Given the description of an element on the screen output the (x, y) to click on. 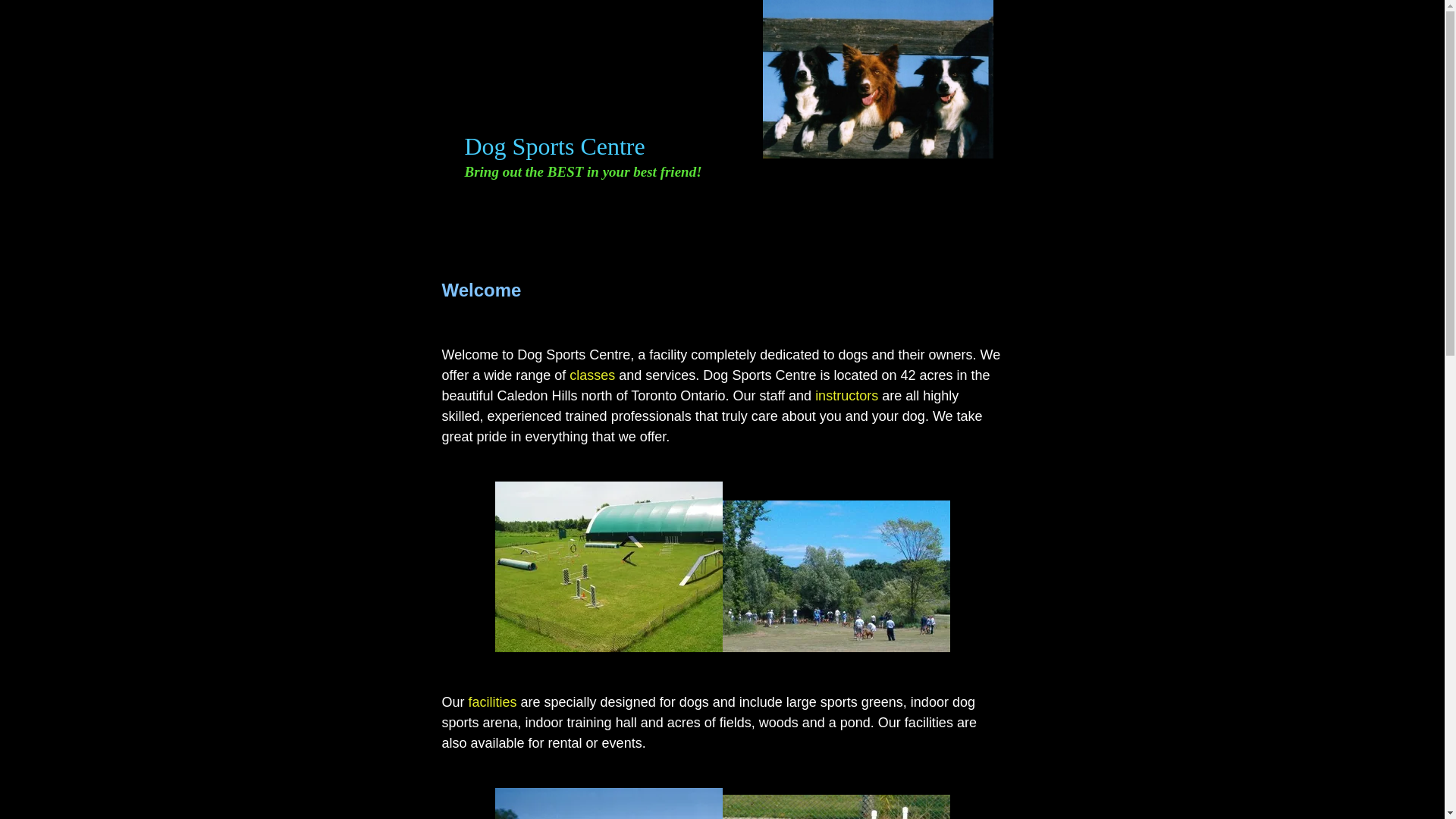
Contact Us (835, 212)
HiQ Borders (665, 240)
facilities (492, 702)
Events (778, 240)
instructors (846, 395)
Facilities (950, 212)
classes (591, 375)
Bring out the BEST in your best friend! (582, 171)
Boarding (721, 212)
Dog Sports Centre (554, 147)
